Given the description of an element on the screen output the (x, y) to click on. 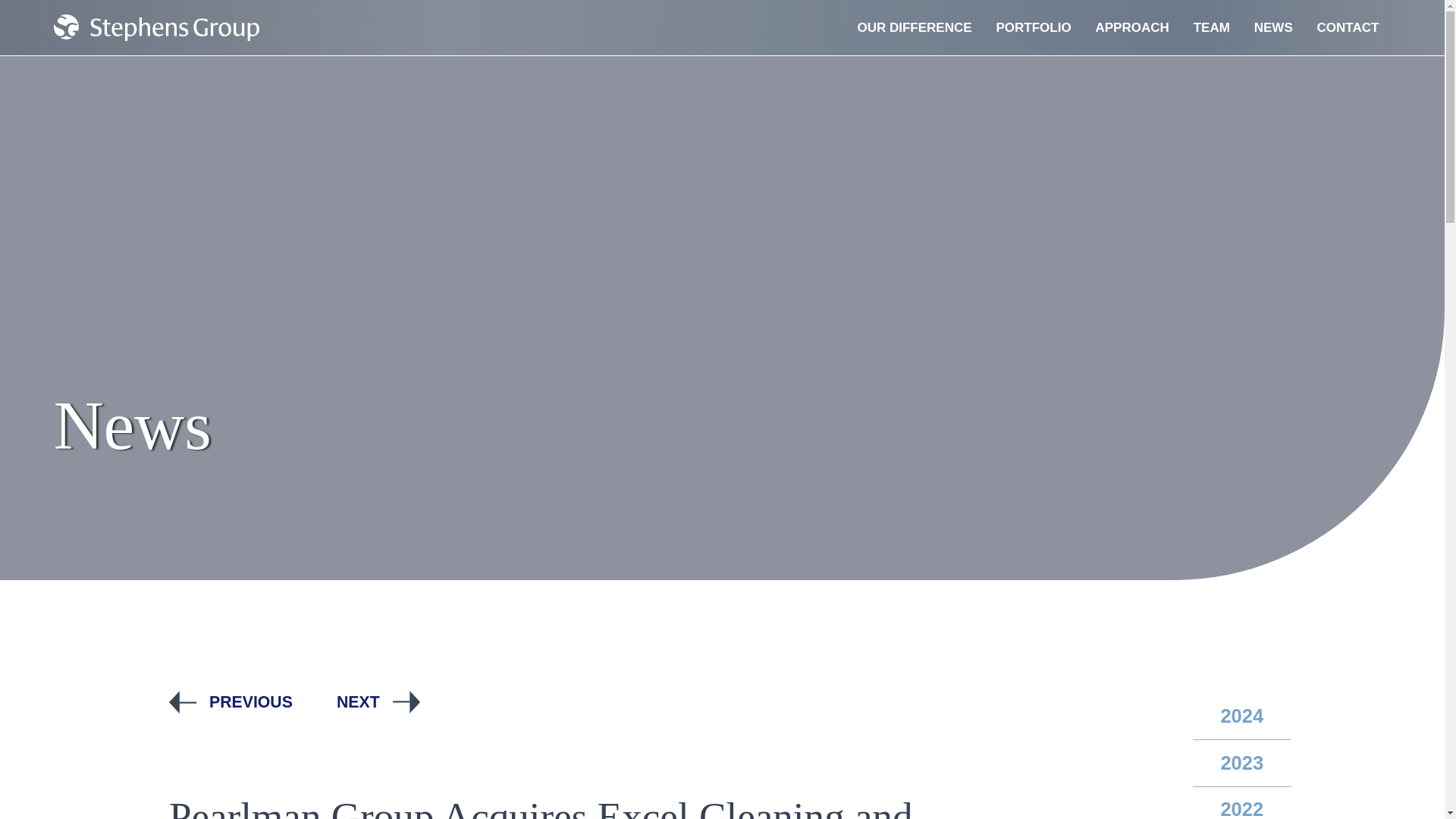
Stephens Group (156, 27)
PORTFOLIO (1033, 27)
2023 (1241, 763)
2022 (1241, 803)
2024 (1241, 716)
PREVIOUS (230, 701)
CONTACT (1347, 27)
OUR DIFFERENCE (914, 27)
NEWS (1272, 27)
APPROACH (1131, 27)
